Given the description of an element on the screen output the (x, y) to click on. 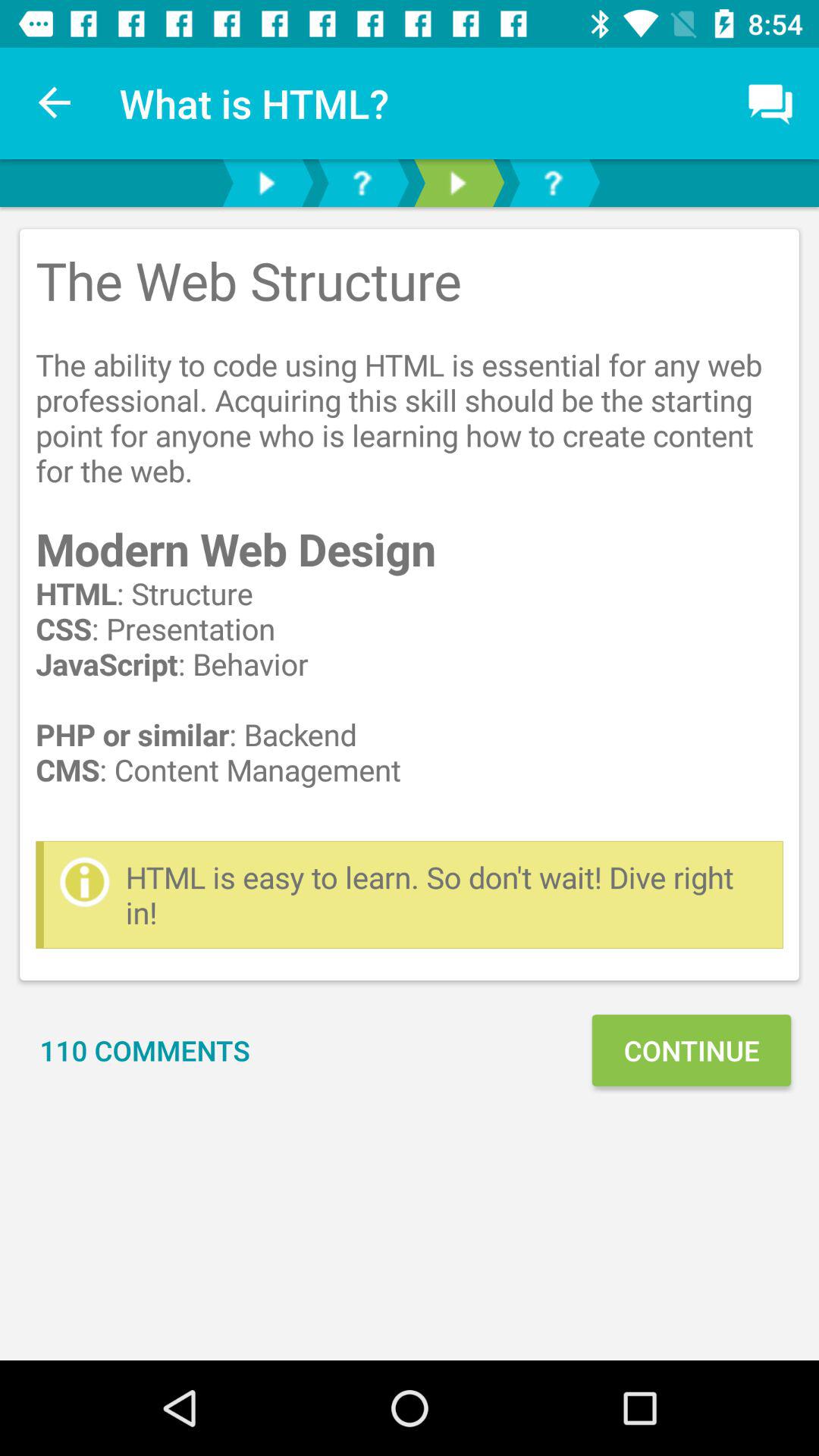
show the actual page (457, 183)
